Given the description of an element on the screen output the (x, y) to click on. 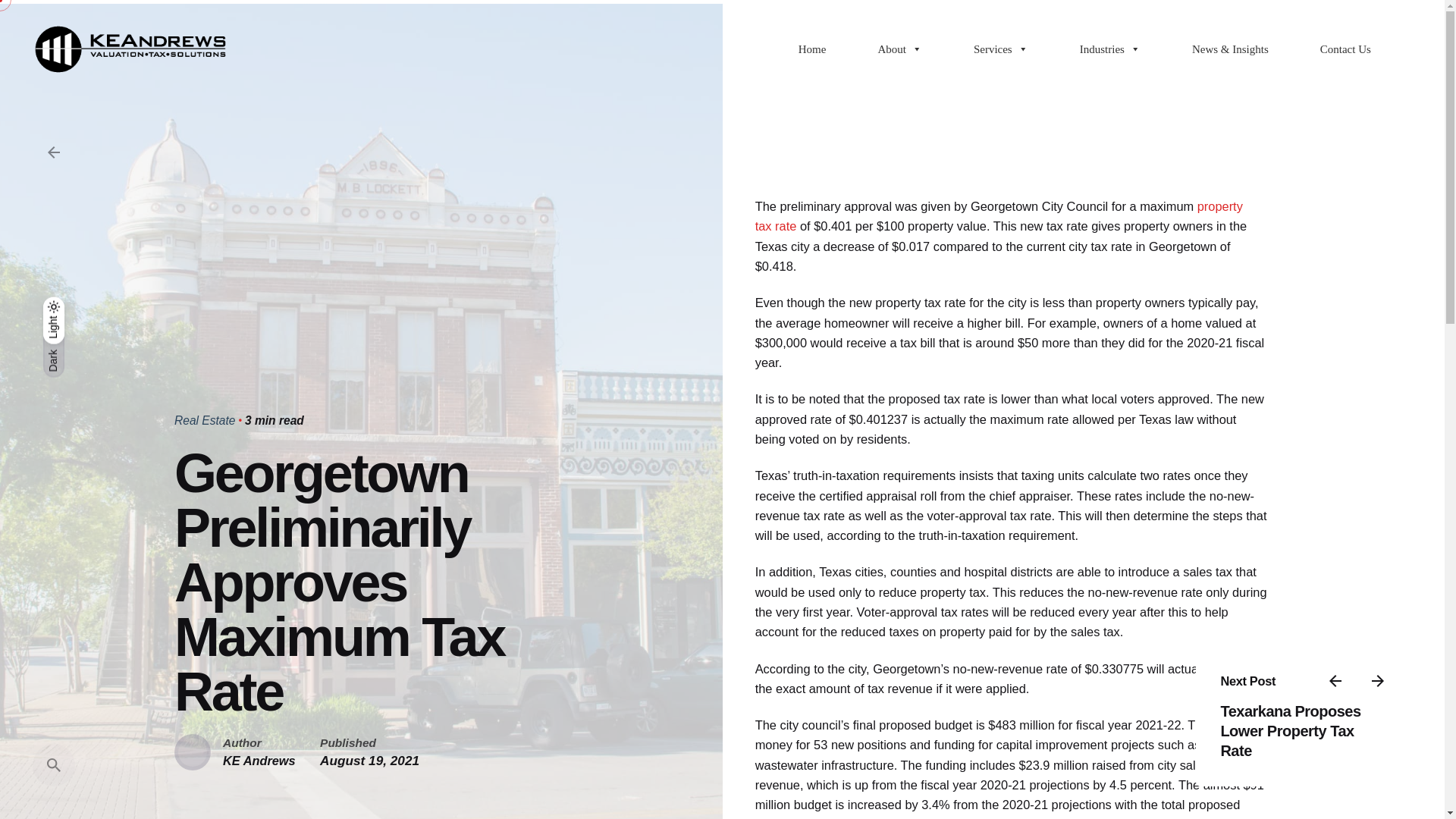
Services (1000, 49)
Industries (1109, 49)
About (899, 49)
Home (812, 49)
